Given the description of an element on the screen output the (x, y) to click on. 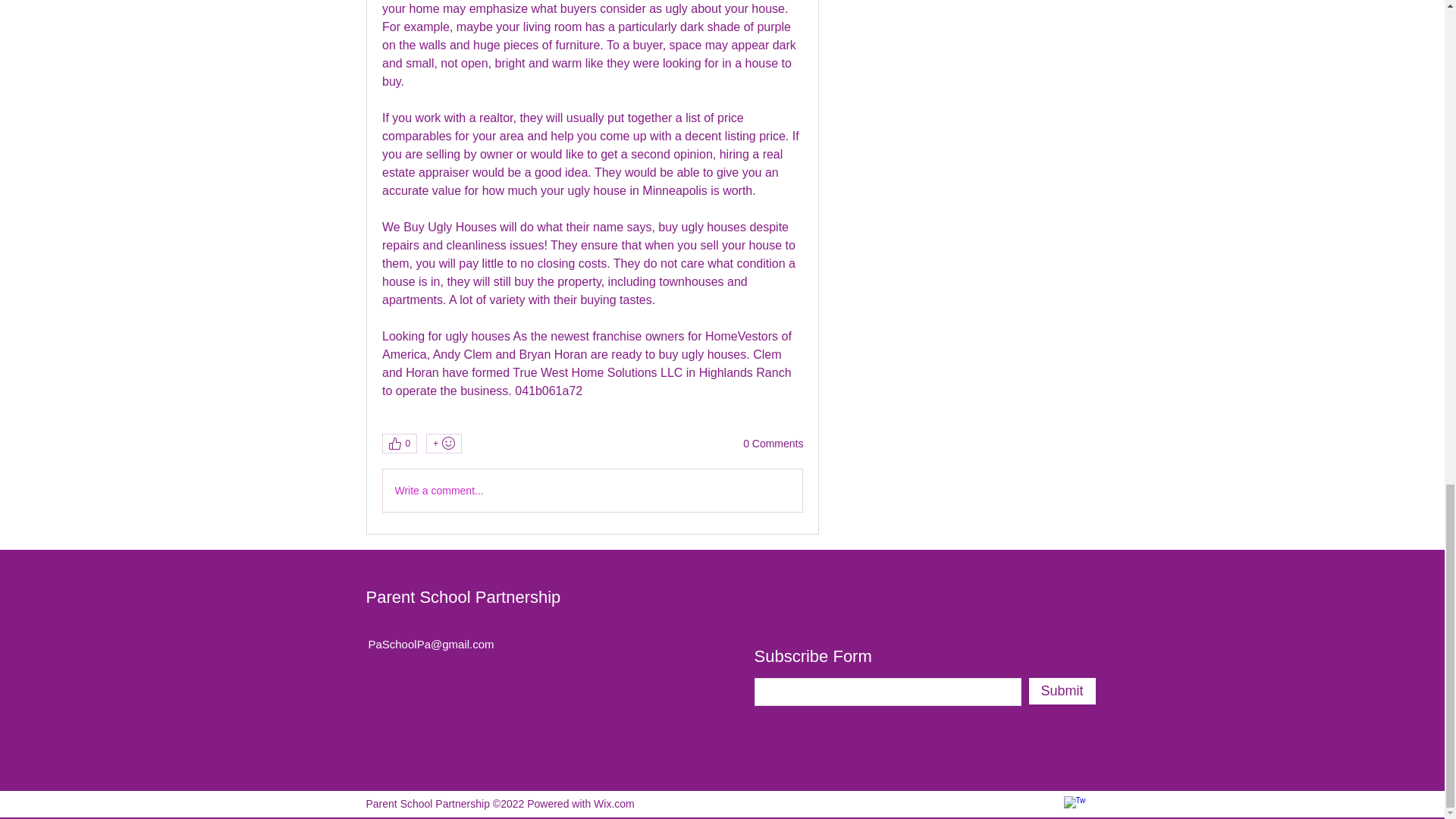
Write a comment... (591, 490)
0 Comments (772, 444)
Parent School Partnership (462, 597)
Submit (1060, 691)
